Given the description of an element on the screen output the (x, y) to click on. 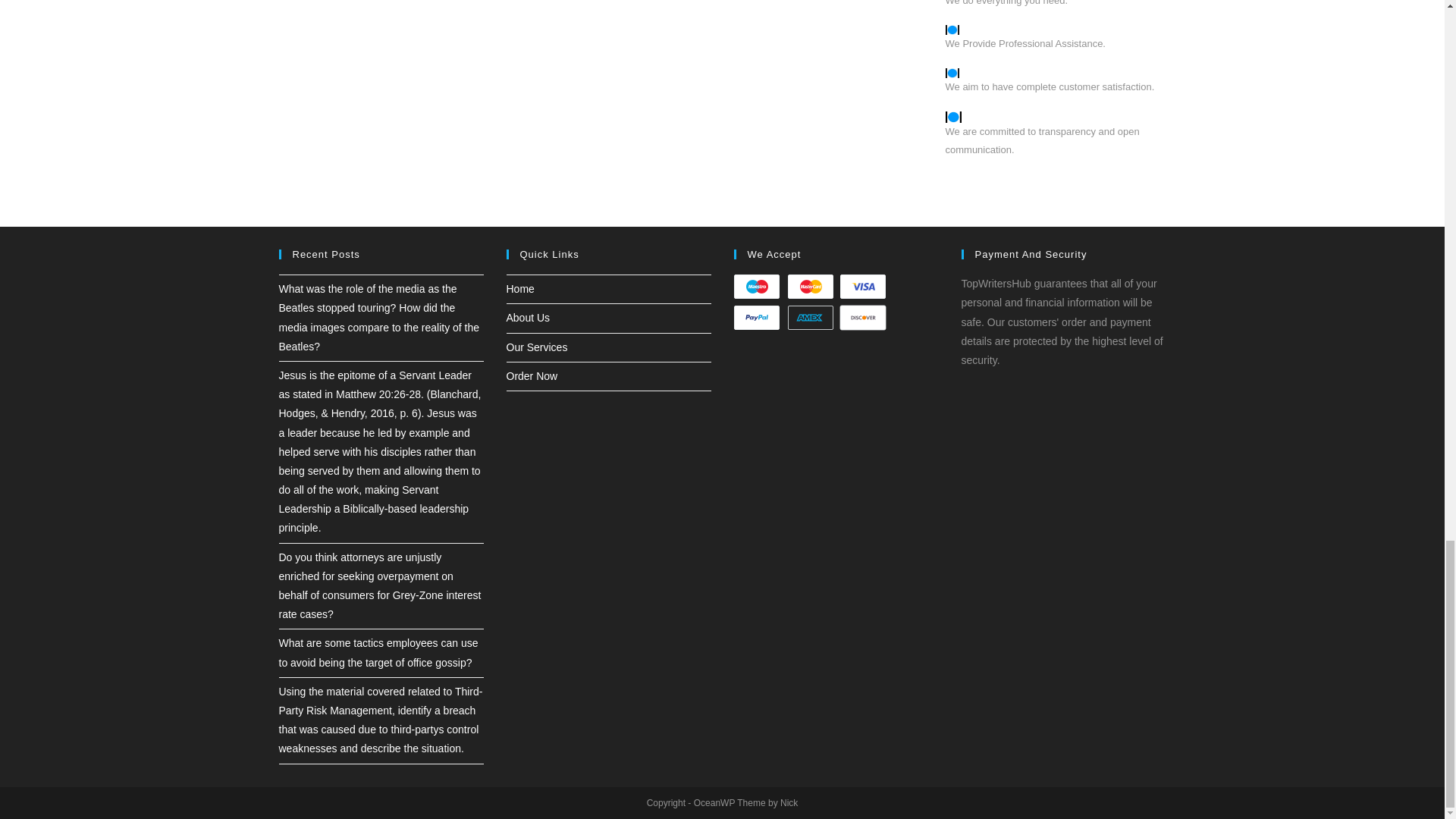
Order Now (531, 376)
About Us (528, 317)
Home (520, 288)
Our Services (536, 346)
